Given the description of an element on the screen output the (x, y) to click on. 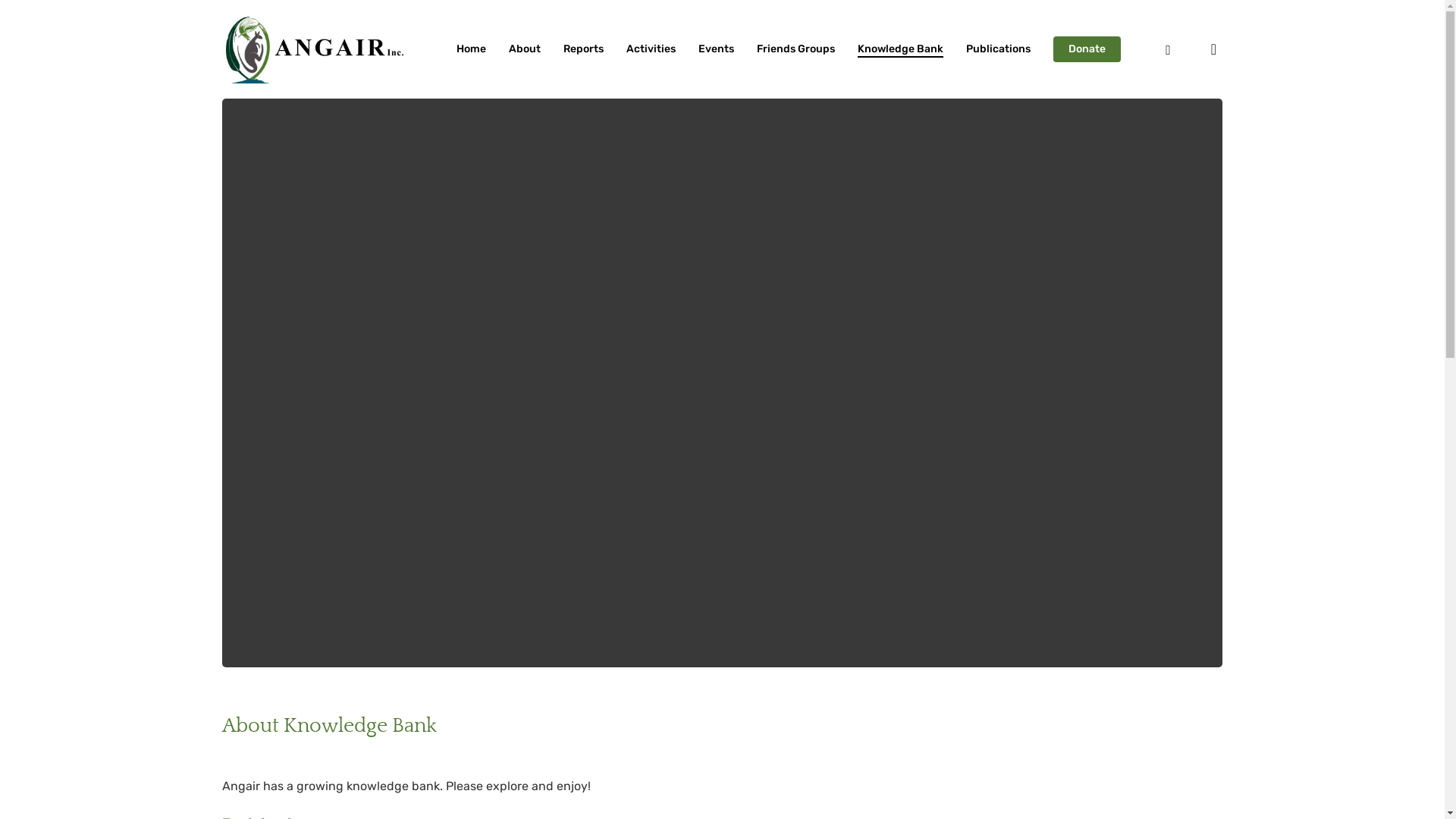
Home Element type: text (471, 48)
Friends Groups Element type: text (795, 48)
Events Element type: text (715, 48)
search Element type: text (1213, 48)
About Element type: text (523, 48)
Knowledge Bank Element type: text (899, 48)
Reports Element type: text (582, 48)
Activities Element type: text (650, 48)
Donate Element type: text (1086, 48)
Facebook Element type: text (1167, 48)
Publications Element type: text (998, 48)
